Given the description of an element on the screen output the (x, y) to click on. 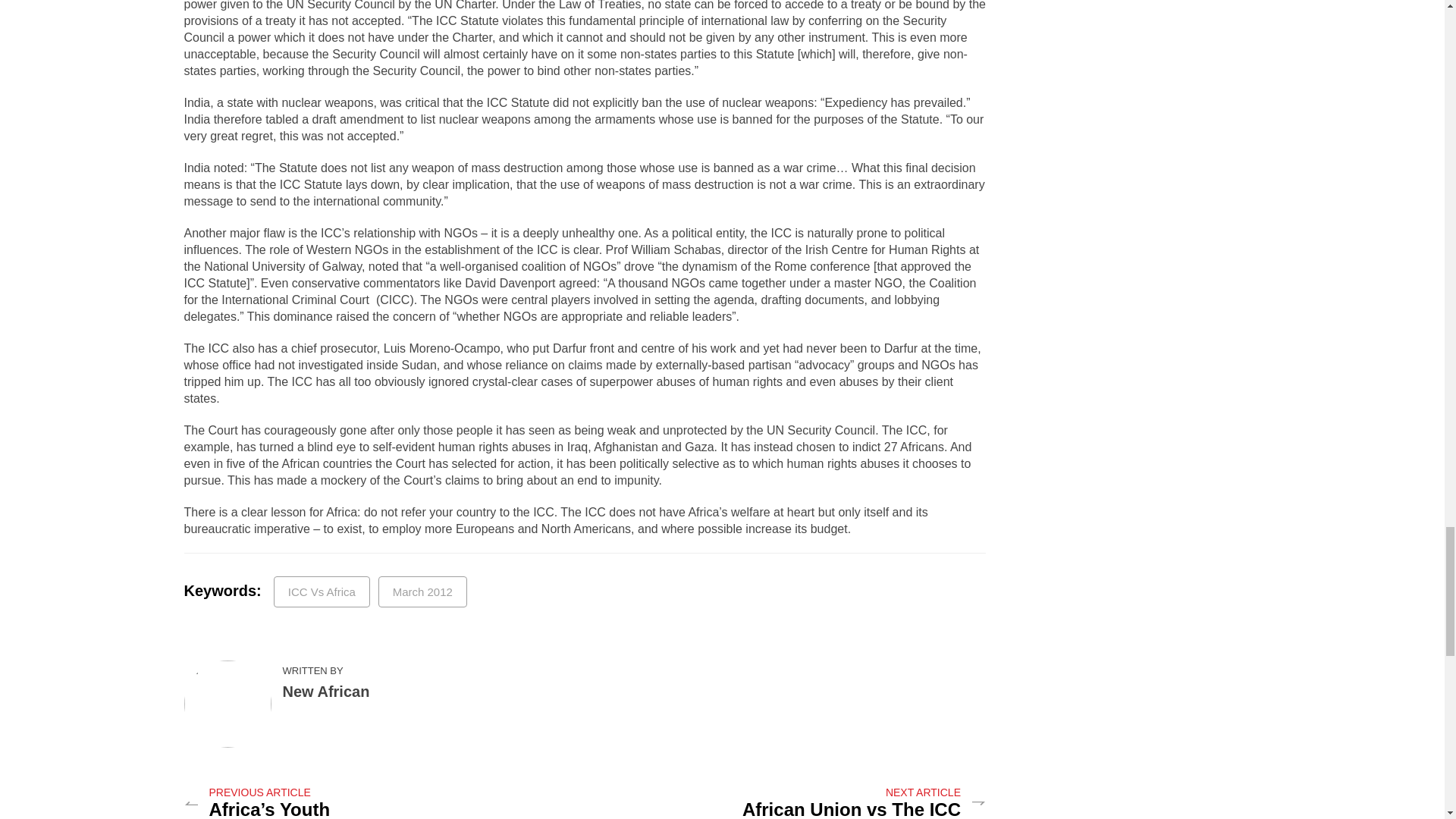
ICC Vs Africa (321, 591)
African Union vs The ICC (851, 809)
March 2012 (422, 591)
